Given the description of an element on the screen output the (x, y) to click on. 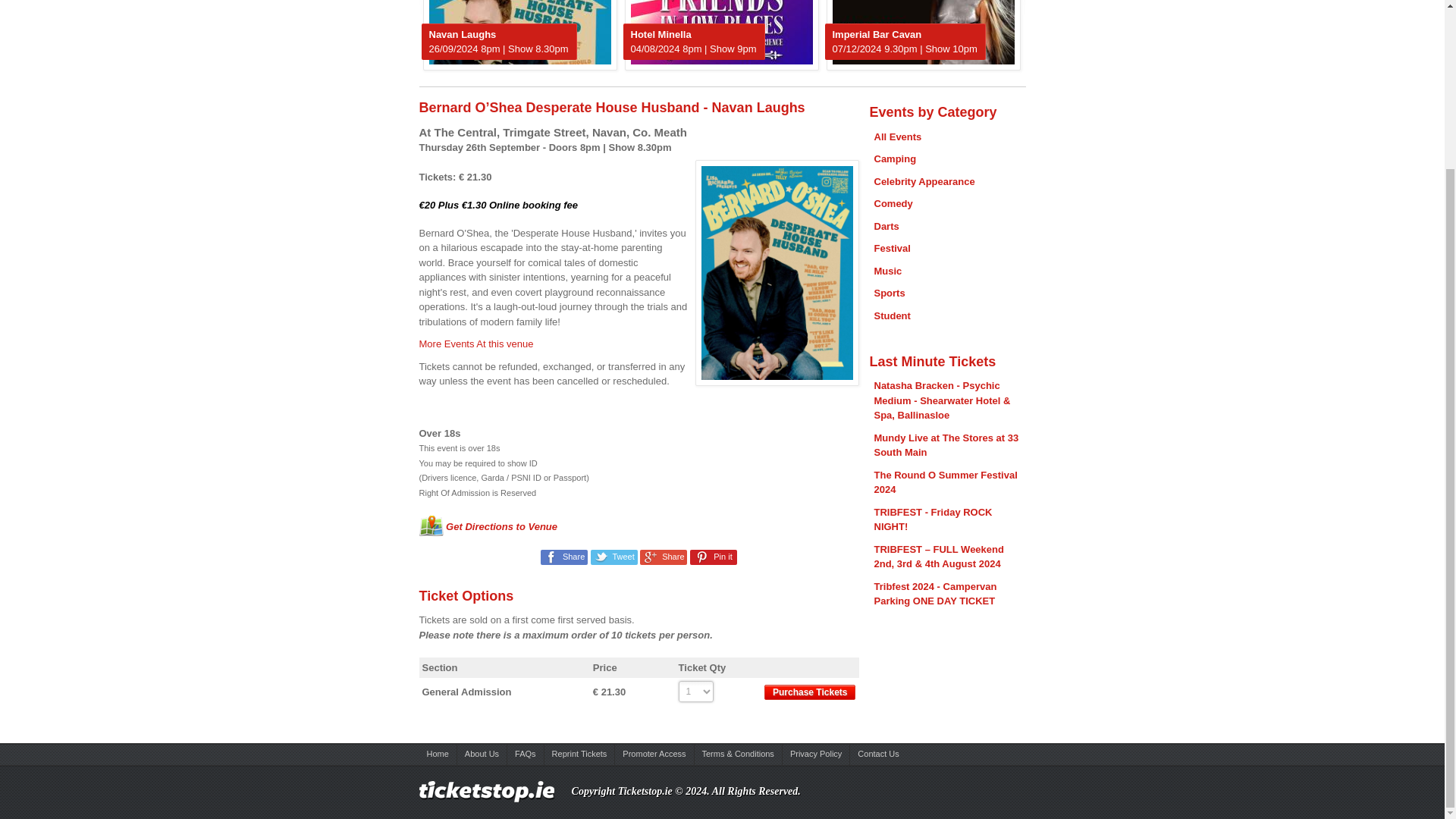
Festival (891, 247)
Share (663, 557)
Camping (894, 158)
Pin it (713, 557)
Tweet (614, 557)
Share (564, 557)
Darts (885, 225)
All Events (897, 136)
Purchase Tickets (810, 692)
Purchase Tickets (810, 692)
Student (891, 315)
More Events At this venue (475, 343)
Comedy (892, 203)
Get Directions to Venue (488, 526)
Celebrity Appearance (923, 181)
